Given the description of an element on the screen output the (x, y) to click on. 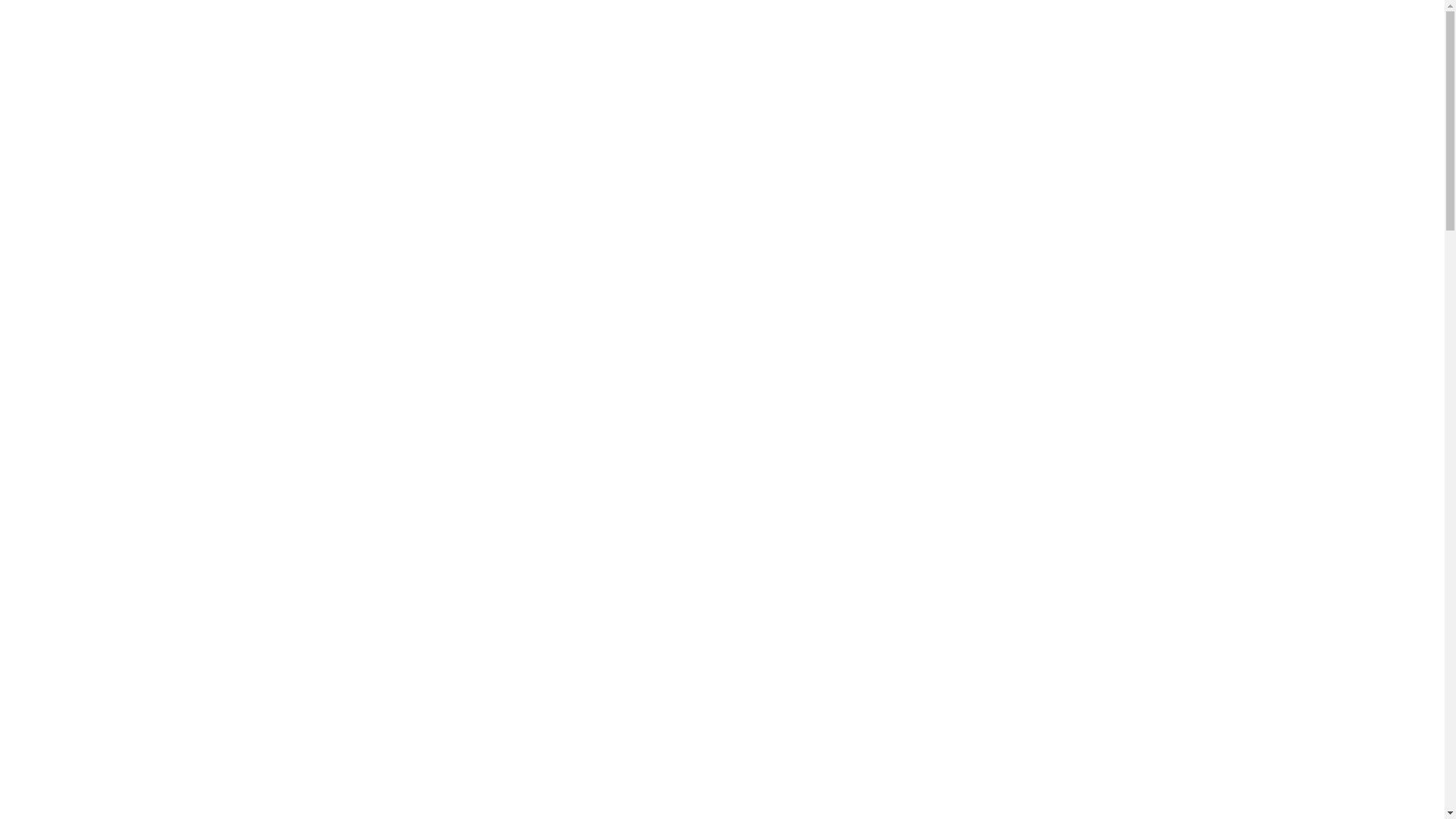
About Us Element type: text (1035, 52)
Contact Us Element type: text (1175, 13)
Learn More Element type: text (195, 561)
Blog Element type: text (1121, 13)
Clinical Element type: text (804, 52)
Home Element type: text (743, 52)
Resources Element type: text (957, 52)
Learn More Element type: text (194, 585)
What is Diabetes? Element type: text (1138, 52)
Research Element type: text (876, 52)
